Given the description of an element on the screen output the (x, y) to click on. 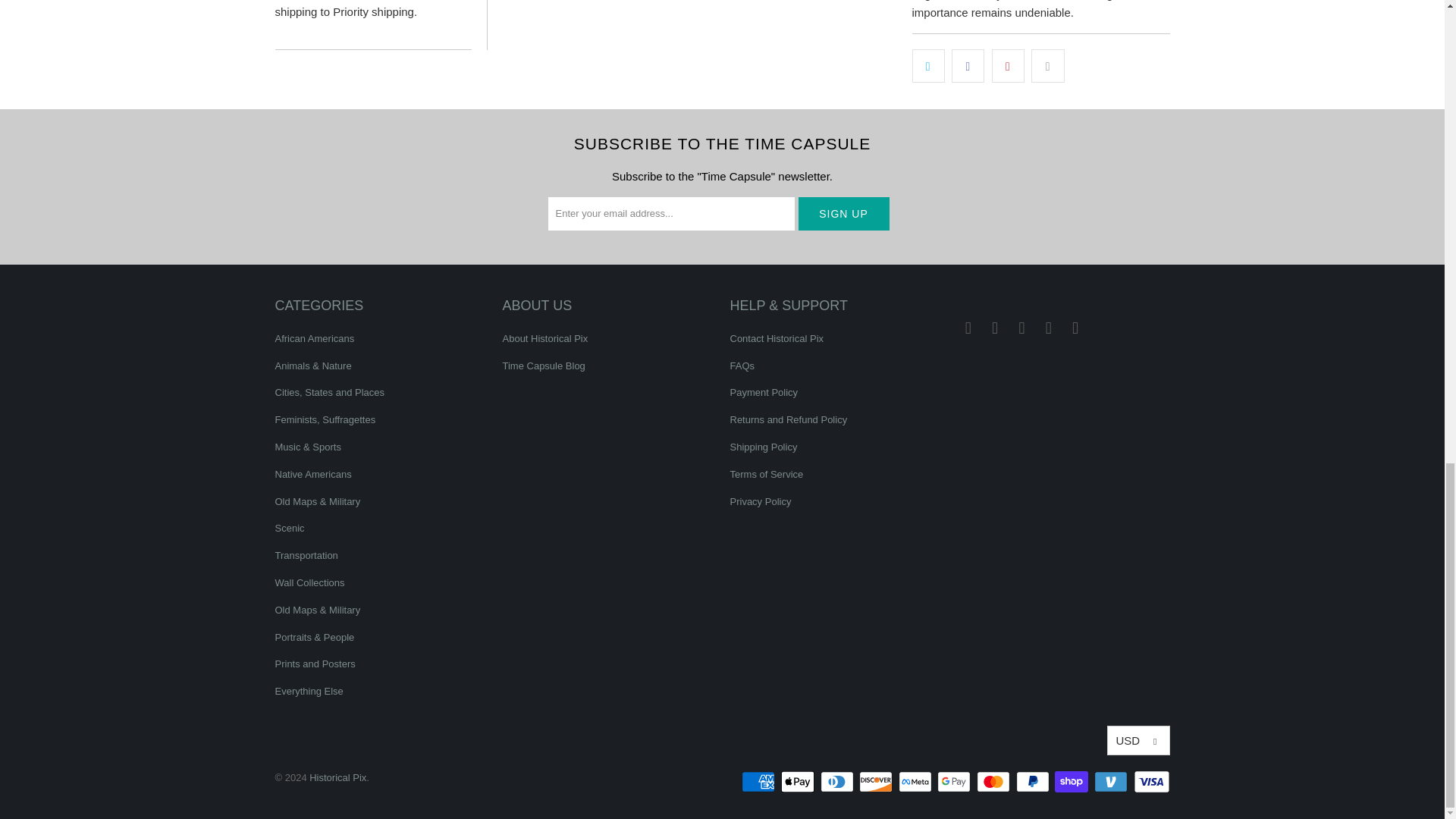
Share this on Facebook (968, 65)
Discover (877, 781)
Google Pay (955, 781)
Email this to a friend (1047, 65)
American Express (759, 781)
Diners Club (839, 781)
Shop Pay (1072, 781)
Visa (1150, 781)
Venmo (1112, 781)
Share this on Pinterest (1008, 65)
